Given the description of an element on the screen output the (x, y) to click on. 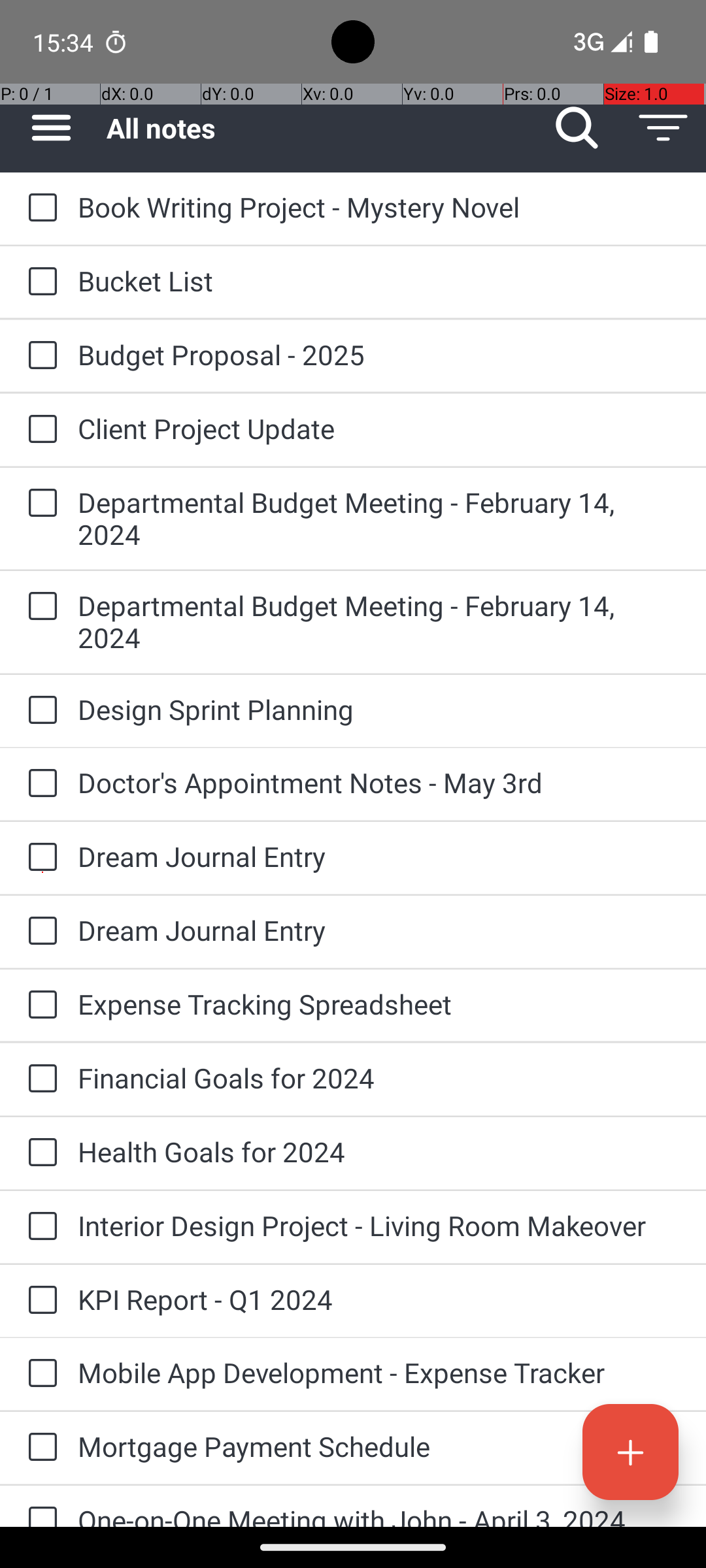
to-do: Book Writing Project - Mystery Novel Element type: android.widget.CheckBox (38, 208)
Book Writing Project - Mystery Novel Element type: android.widget.TextView (378, 206)
to-do: Bucket List Element type: android.widget.CheckBox (38, 282)
Bucket List Element type: android.widget.TextView (378, 280)
to-do: Budget Proposal - 2025 Element type: android.widget.CheckBox (38, 356)
Budget Proposal - 2025 Element type: android.widget.TextView (378, 354)
to-do: Client Project Update Element type: android.widget.CheckBox (38, 429)
Client Project Update Element type: android.widget.TextView (378, 427)
to-do: Departmental Budget Meeting - February 14, 2024 Element type: android.widget.CheckBox (38, 503)
Departmental Budget Meeting - February 14, 2024 Element type: android.widget.TextView (378, 517)
to-do: Doctor's Appointment Notes - May 3rd Element type: android.widget.CheckBox (38, 783)
Doctor's Appointment Notes - May 3rd Element type: android.widget.TextView (378, 781)
to-do: Dream Journal Entry Element type: android.widget.CheckBox (38, 857)
Dream Journal Entry Element type: android.widget.TextView (378, 855)
to-do: Expense Tracking Spreadsheet Element type: android.widget.CheckBox (38, 1005)
Expense Tracking Spreadsheet Element type: android.widget.TextView (378, 1003)
to-do: Financial Goals for 2024 Element type: android.widget.CheckBox (38, 1079)
Financial Goals for 2024 Element type: android.widget.TextView (378, 1077)
to-do: Health Goals for 2024 Element type: android.widget.CheckBox (38, 1153)
Health Goals for 2024 Element type: android.widget.TextView (378, 1151)
to-do: Interior Design Project - Living Room Makeover Element type: android.widget.CheckBox (38, 1227)
Interior Design Project - Living Room Makeover Element type: android.widget.TextView (378, 1224)
to-do: KPI Report - Q1 2024 Element type: android.widget.CheckBox (38, 1300)
KPI Report - Q1 2024 Element type: android.widget.TextView (378, 1298)
to-do: Mobile App Development - Expense Tracker Element type: android.widget.CheckBox (38, 1373)
Mobile App Development - Expense Tracker Element type: android.widget.TextView (378, 1371)
to-do: Mortgage Payment Schedule Element type: android.widget.CheckBox (38, 1447)
Mortgage Payment Schedule Element type: android.widget.TextView (378, 1445)
to-do: One-on-One Meeting with John - April 3, 2024 Element type: android.widget.CheckBox (38, 1505)
One-on-One Meeting with John - April 3, 2024 Element type: android.widget.TextView (378, 1513)
